Given the description of an element on the screen output the (x, y) to click on. 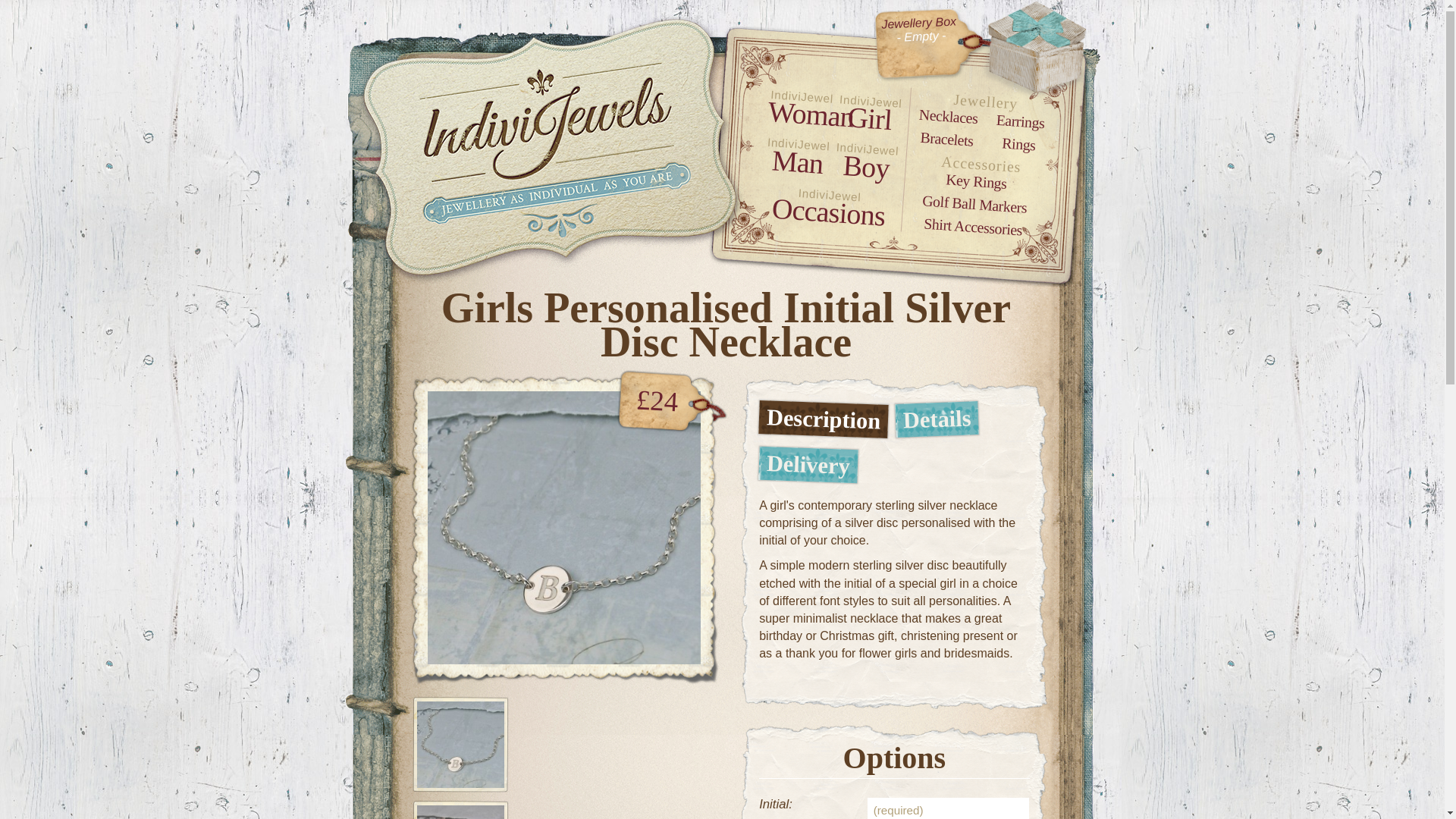
Rings (1017, 141)
Necklaces (947, 113)
Earrings (1018, 118)
Bracelets (945, 136)
Occasions (827, 207)
Shirt Accessories (972, 221)
Key Rings (975, 176)
Golf Ball Markers (973, 199)
Girl (868, 116)
Man (795, 159)
